Given the description of an element on the screen output the (x, y) to click on. 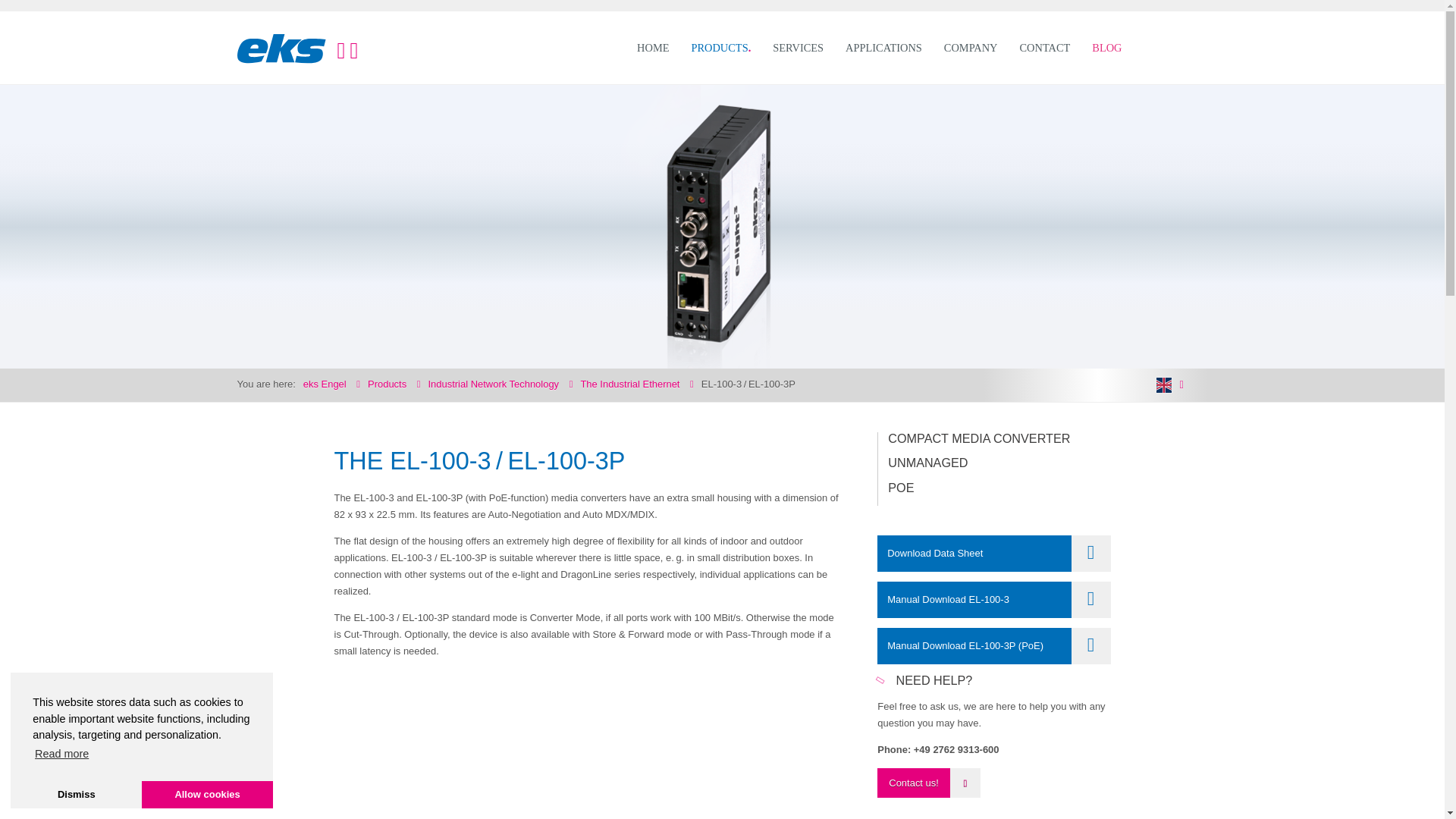
Allow cookies (207, 794)
Dismiss (75, 794)
Read more (61, 753)
